Given the description of an element on the screen output the (x, y) to click on. 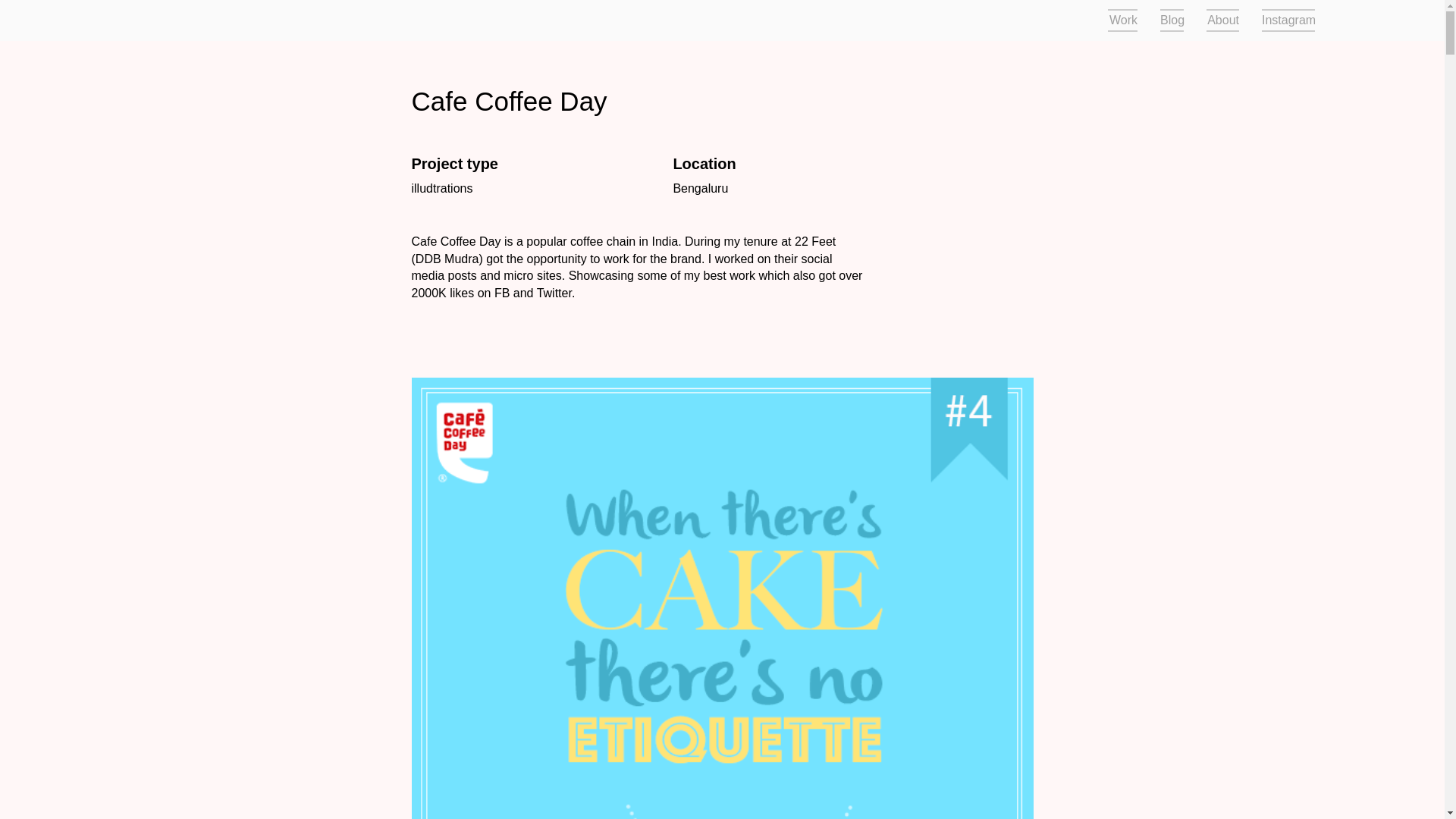
Blog (1171, 20)
About (1222, 20)
Work (1122, 20)
Instagram (1282, 20)
